Given the description of an element on the screen output the (x, y) to click on. 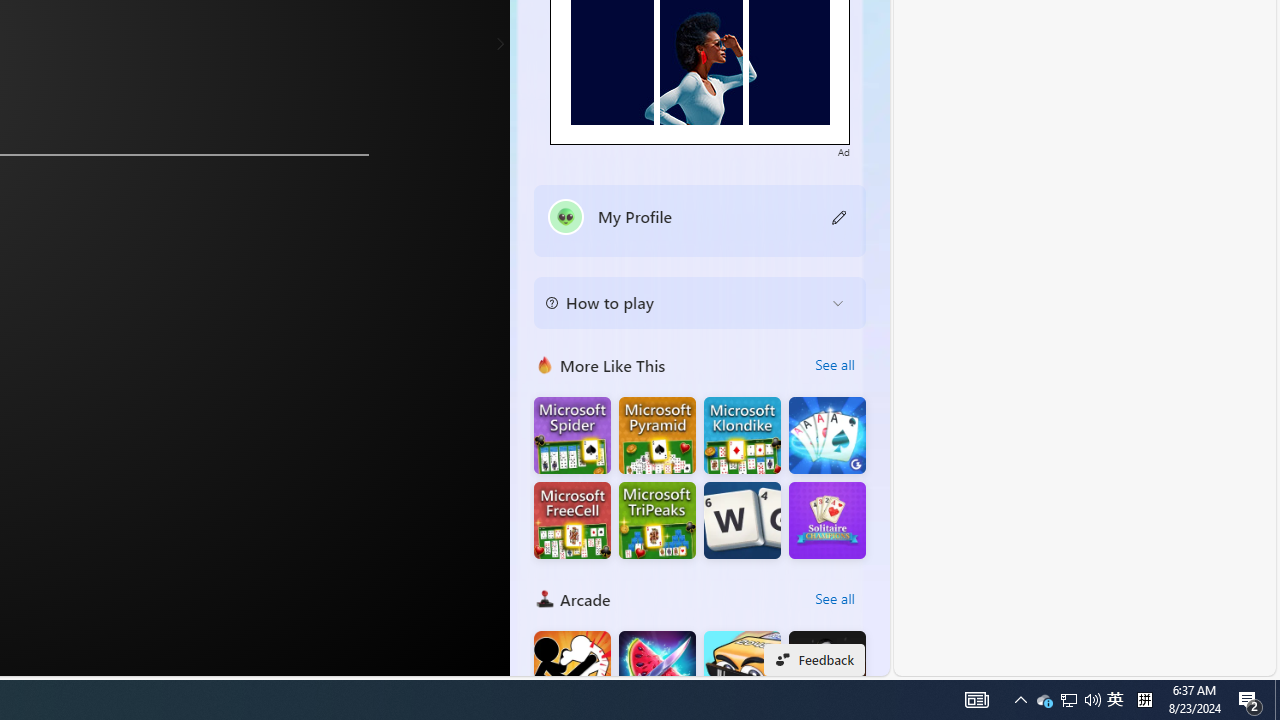
Arcade (544, 598)
Microsoft Pyramid Solitaire (657, 435)
Microsoft FreeCell Solitaire (571, 520)
Stickman Fighter : Mega Brawl (571, 669)
See all (834, 598)
Microsoft Spider Solitaire (571, 435)
Class: control (499, 43)
